Given the description of an element on the screen output the (x, y) to click on. 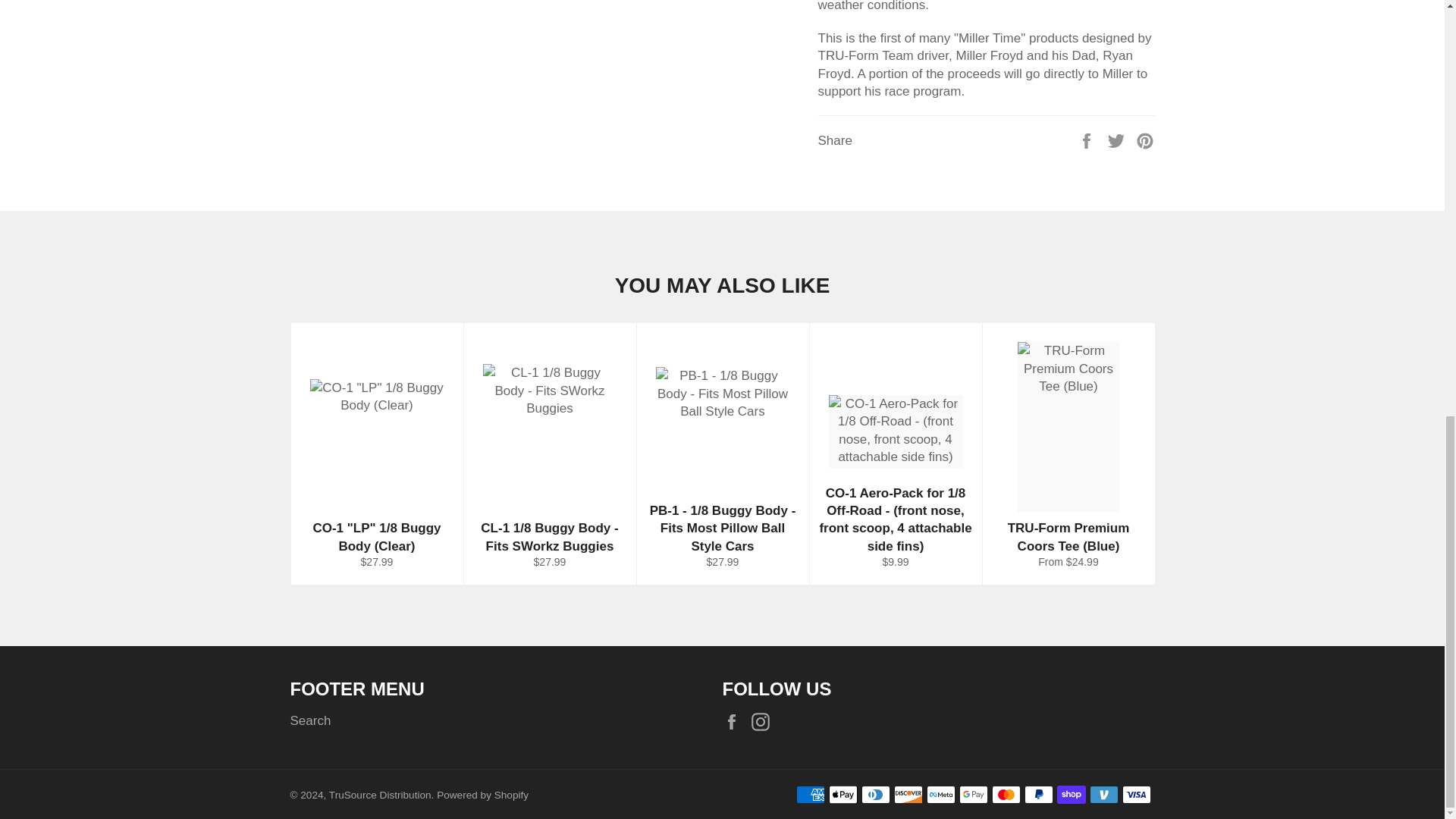
Share on Facebook (1088, 139)
Tweet on Twitter (1117, 139)
TruSource Distribution on Facebook (735, 721)
Tweet on Twitter (1117, 139)
Share on Facebook (1088, 139)
Pin on Pinterest (1144, 139)
TruSource Distribution on Instagram (764, 721)
Pin on Pinterest (1144, 139)
